Given the description of an element on the screen output the (x, y) to click on. 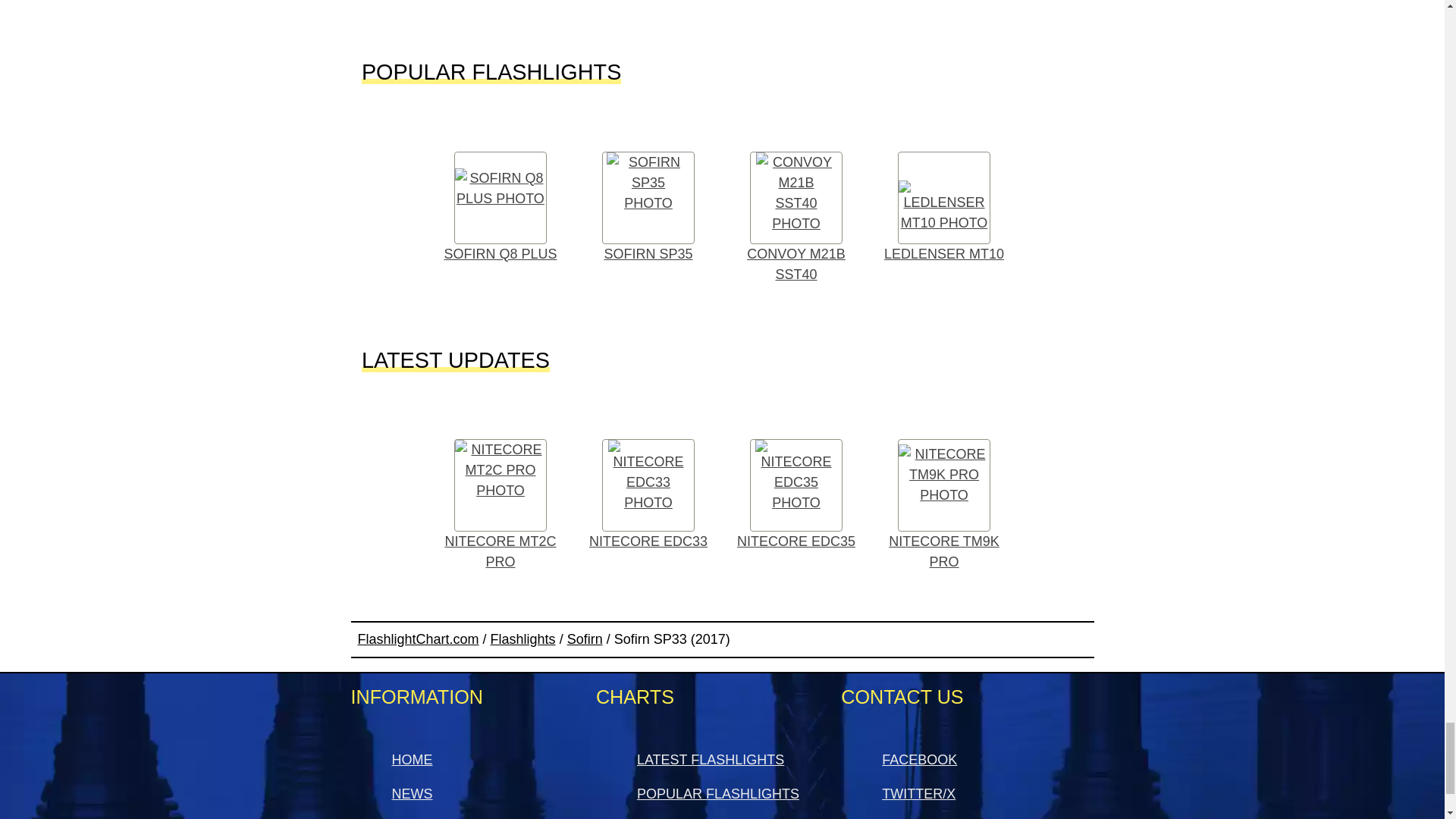
NITECORE TM9K PRO (944, 505)
SOFIRN Q8 PLUS (500, 207)
FlashlightChart.com (418, 639)
NITECORE EDC35 (795, 495)
Flashlights (523, 639)
NEWS (411, 793)
LATEST FLASHLIGHTS (710, 759)
SOFIRN SP35 (648, 207)
NITECORE MT2C PRO (500, 505)
FACEBOOK (919, 759)
Sofirn (584, 639)
LEDLENSER MT10 (944, 207)
NITECORE EDC33 (648, 495)
CONVOY M21B SST40 (795, 218)
POPULAR FLASHLIGHTS (718, 793)
